Given the description of an element on the screen output the (x, y) to click on. 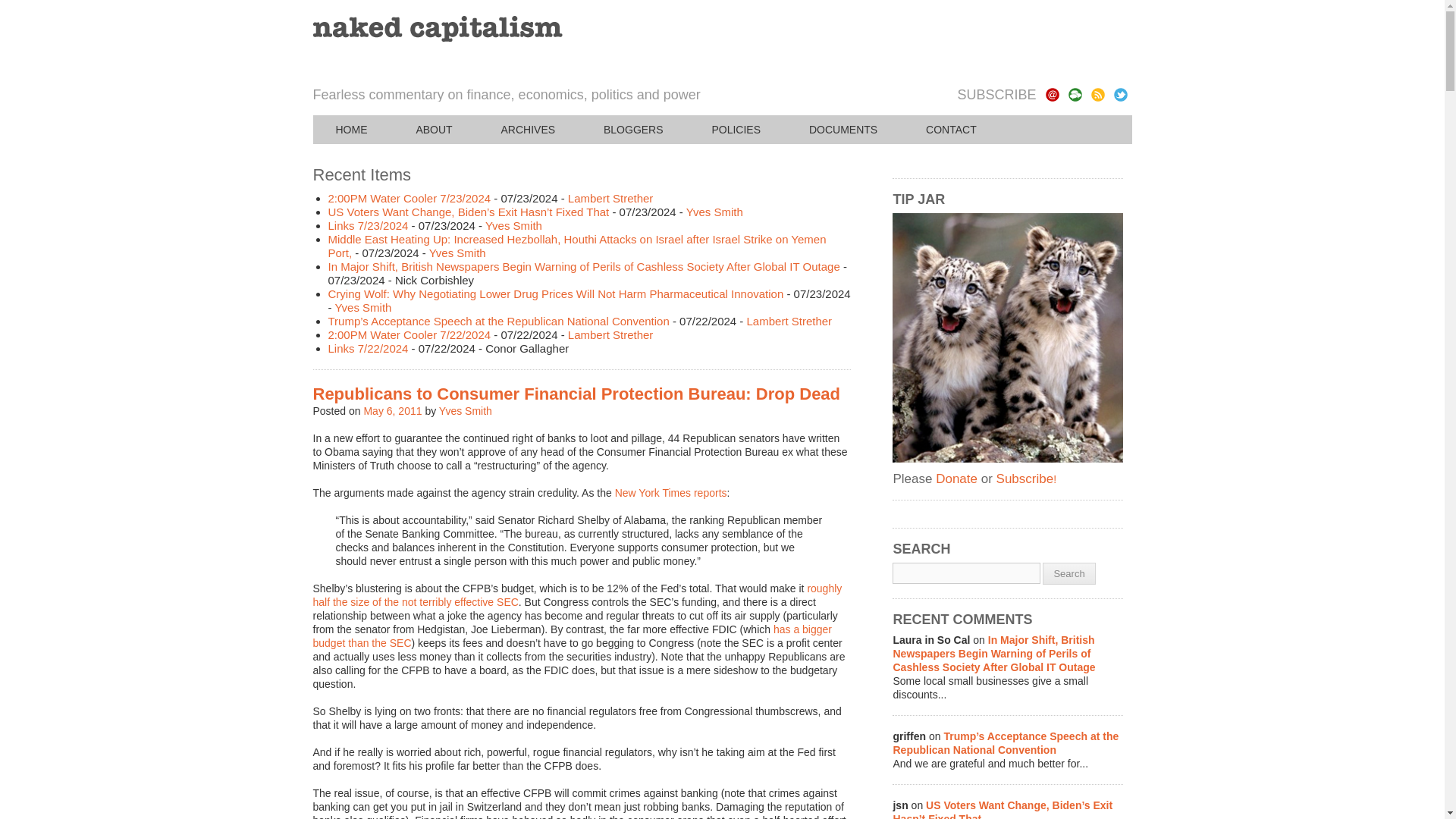
Subscribe to comments via RSS feed (1074, 94)
BLOGGERS (632, 129)
Search (1068, 573)
ABOUT (433, 129)
Lambert Strether (610, 334)
Lambert Strether (610, 197)
Yves Smith (465, 410)
ARCHIVES (528, 129)
Subscribe to posts via Email (1051, 94)
Yves Smith (512, 225)
Yves Smith (713, 211)
HOME (351, 129)
